Given the description of an element on the screen output the (x, y) to click on. 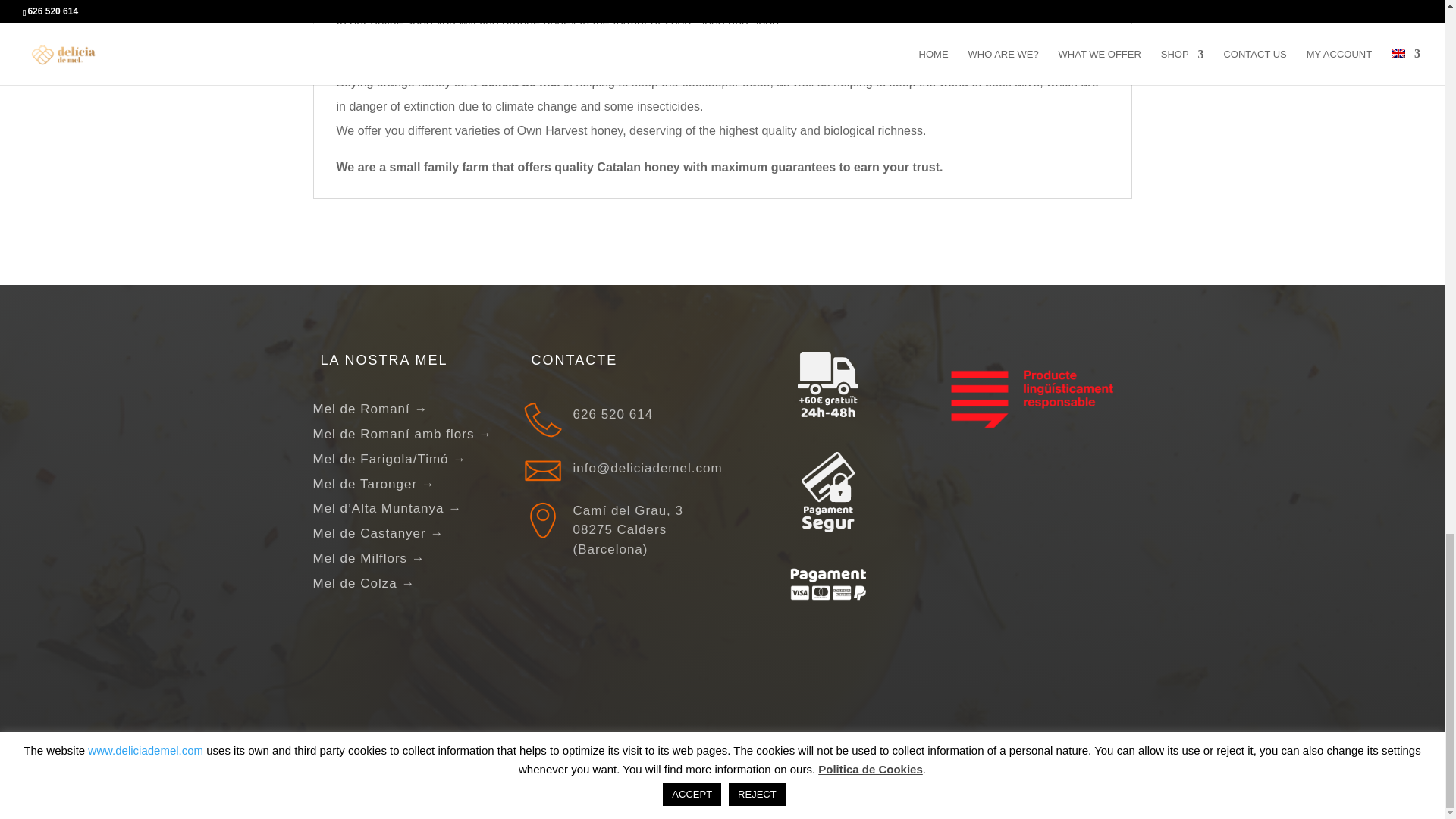
Follow on Instagram (1075, 770)
Follow on Facebook (1035, 770)
Follow on X (1114, 770)
